Given the description of an element on the screen output the (x, y) to click on. 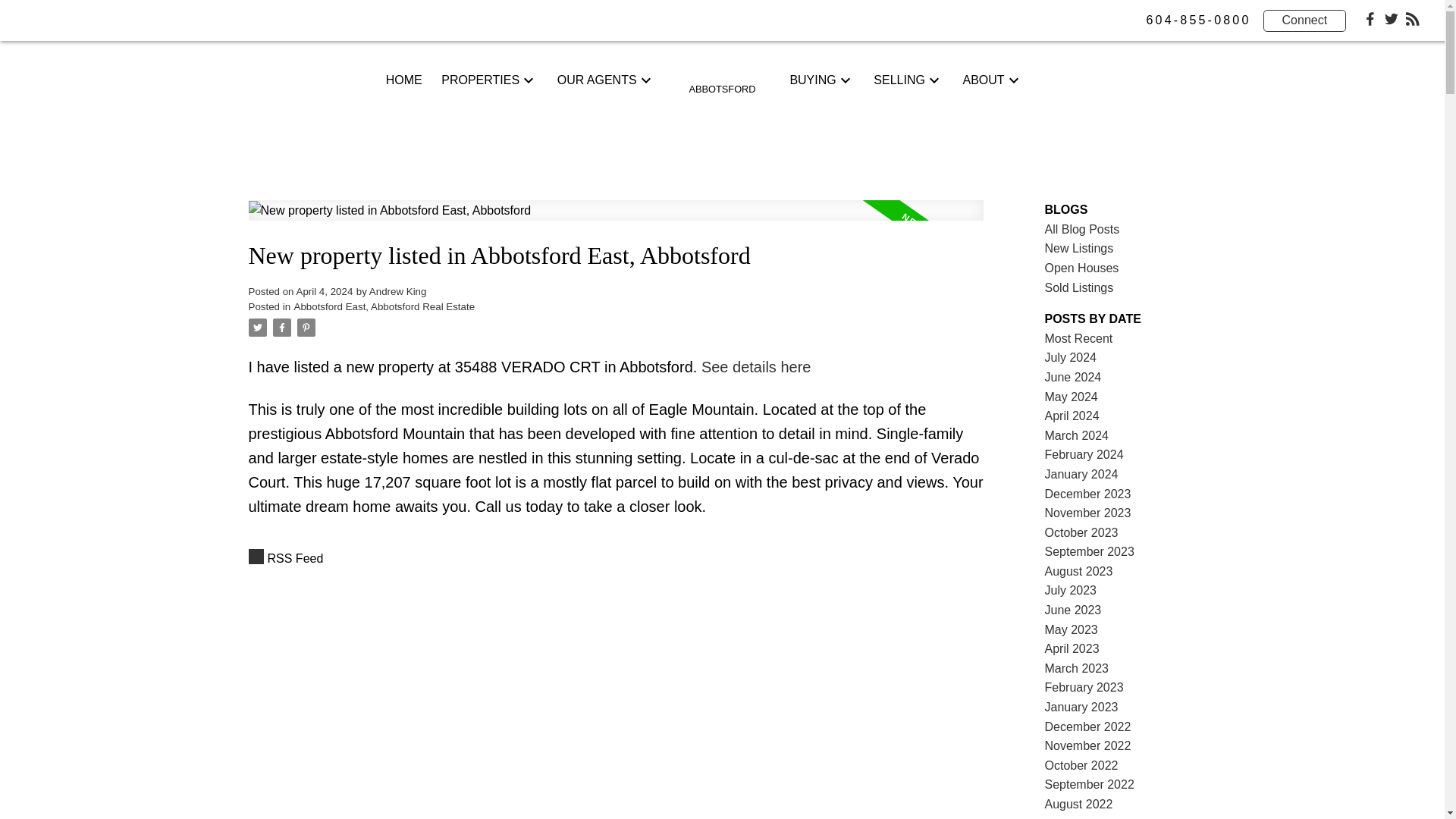
SELLING (898, 80)
ABOUT (983, 80)
604-855-0800 (1198, 20)
OUR AGENTS (597, 80)
HOME (403, 80)
BUYING (812, 80)
PROPERTIES (480, 80)
Connect (1304, 20)
